Given the description of an element on the screen output the (x, y) to click on. 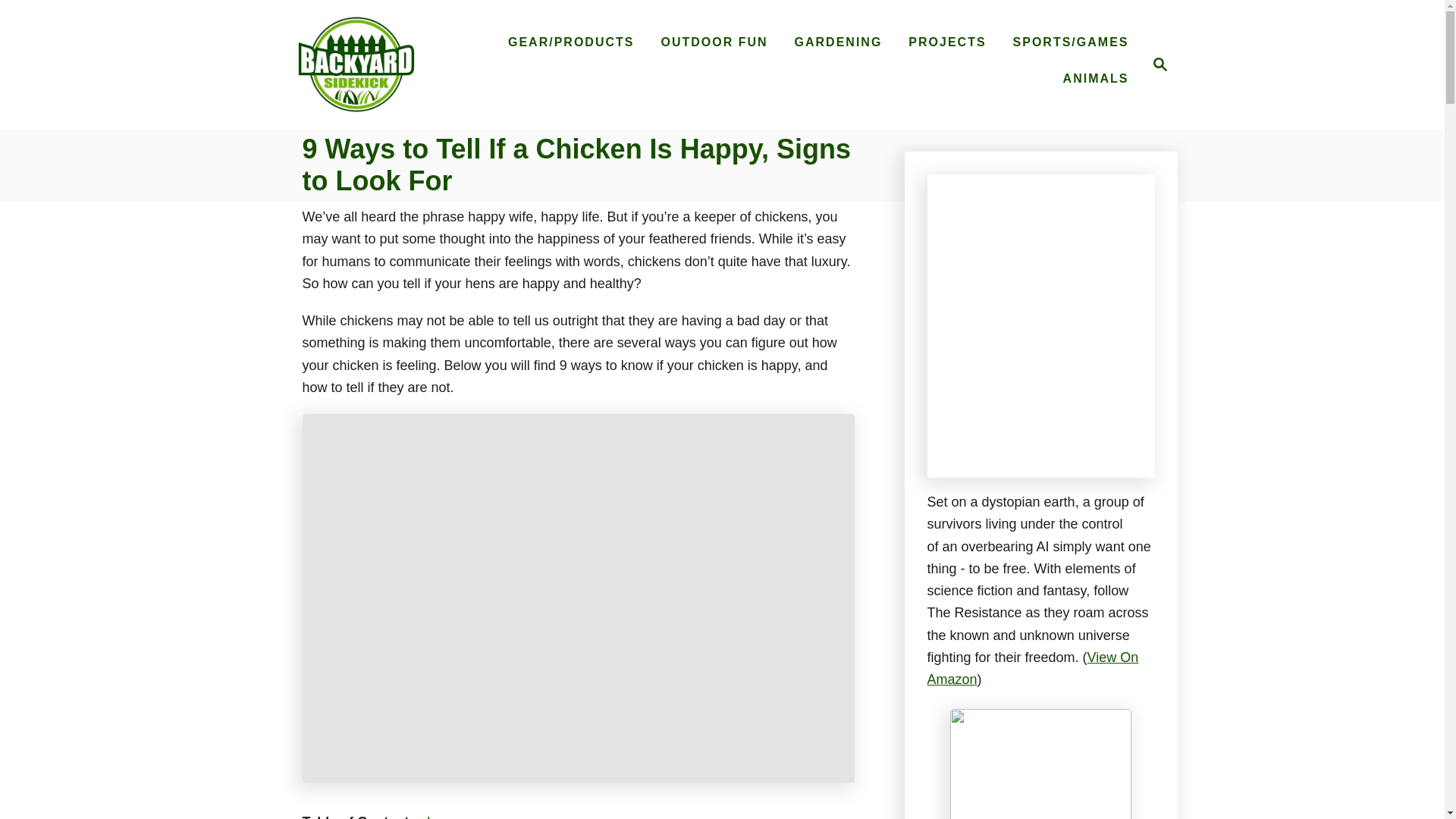
Magnifying Glass (1160, 64)
PROJECTS (946, 41)
GARDENING (838, 41)
ANIMALS (1096, 78)
Backyard Sidekick (1155, 64)
Skip to Content (355, 64)
OUTDOOR FUN (435, 816)
